Given the description of an element on the screen output the (x, y) to click on. 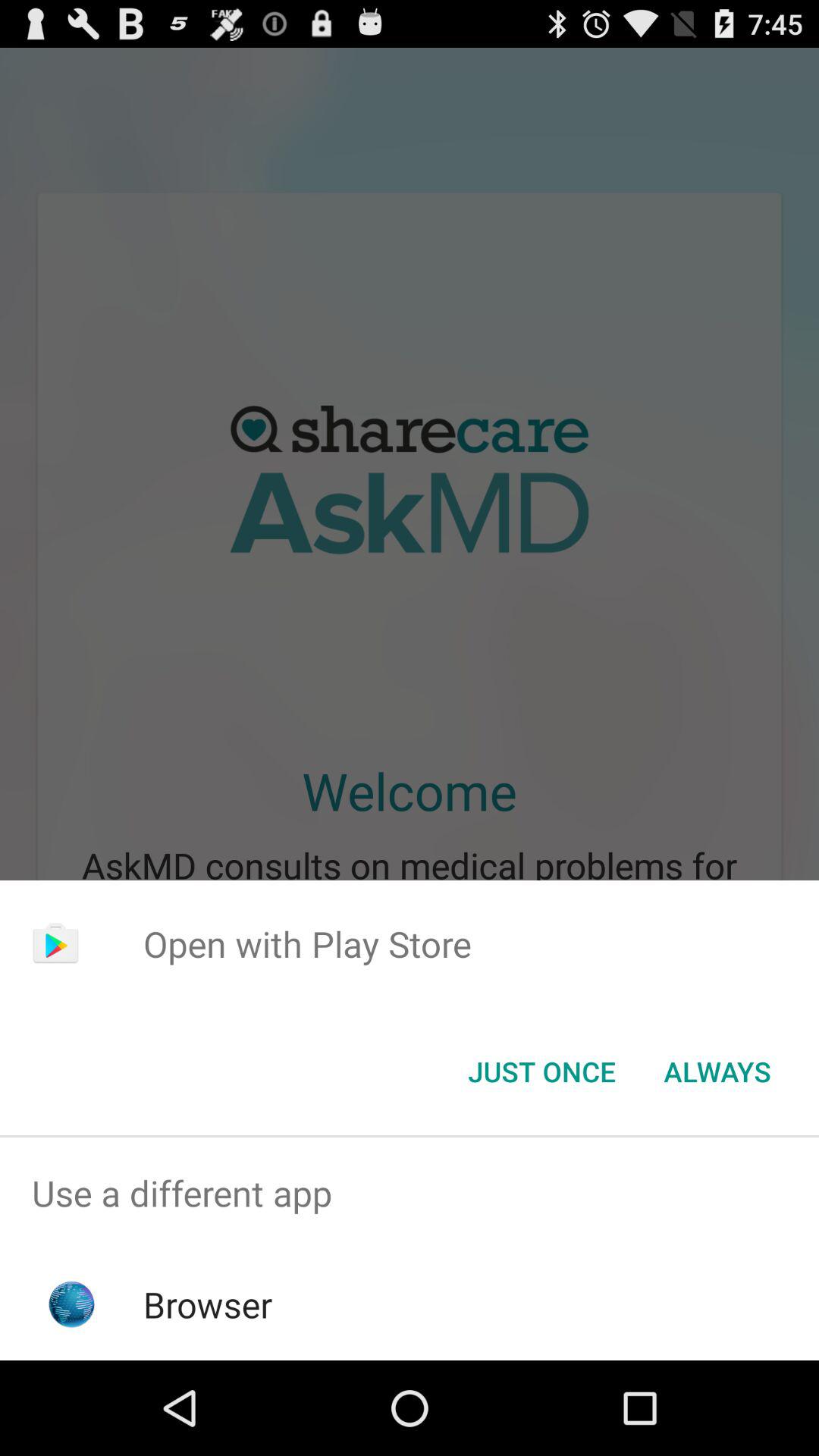
jump until use a different icon (409, 1192)
